Given the description of an element on the screen output the (x, y) to click on. 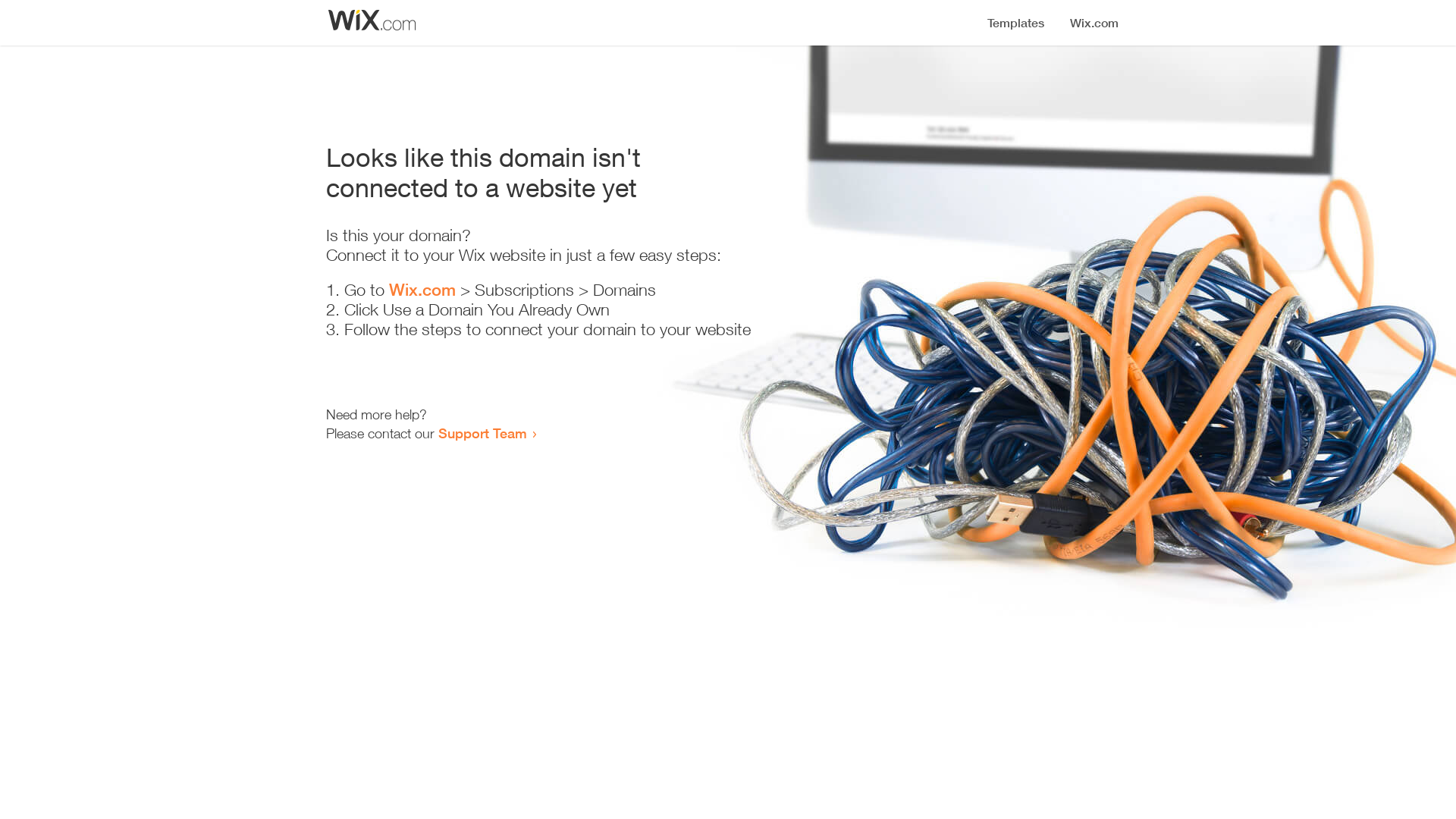
Support Team Element type: text (482, 432)
Wix.com Element type: text (422, 289)
